Given the description of an element on the screen output the (x, y) to click on. 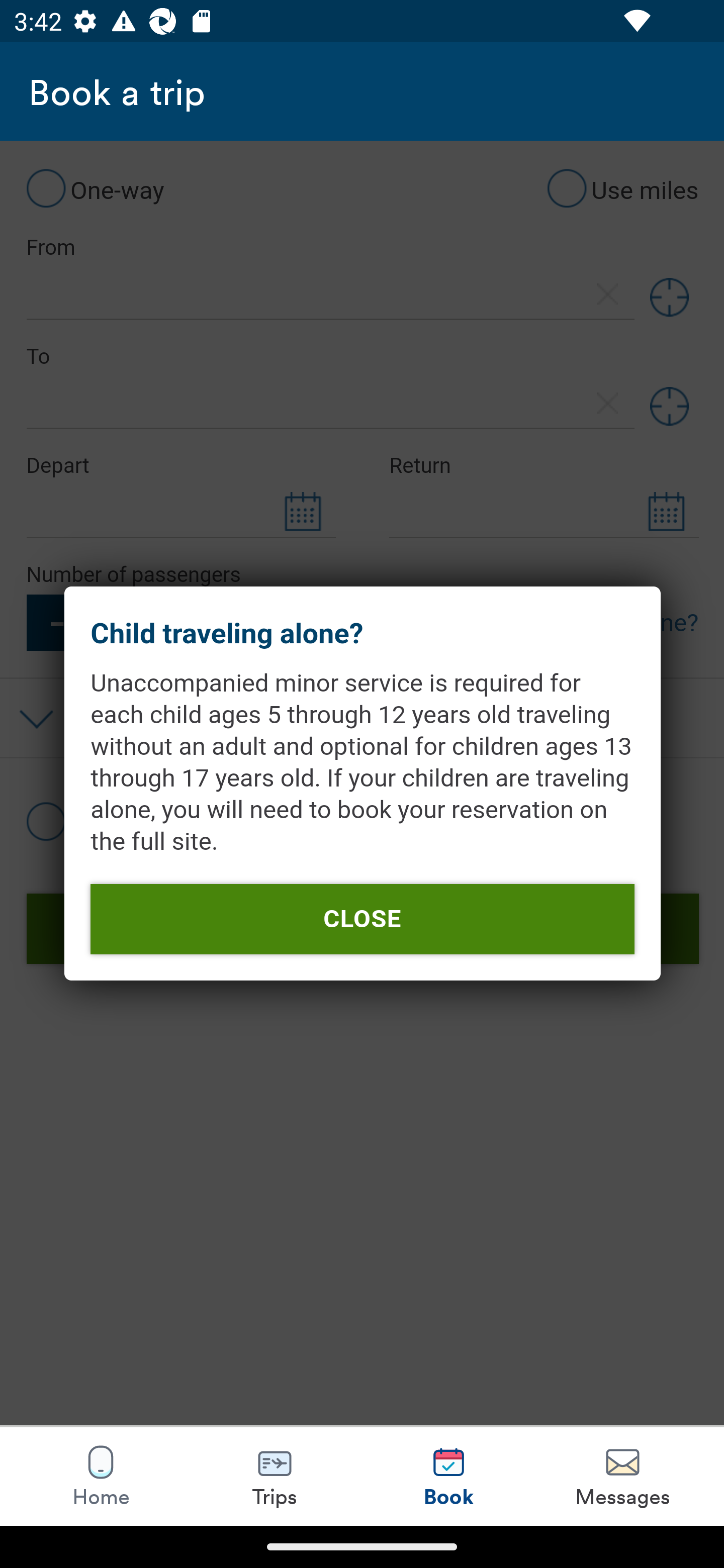
Close (361, 918)
Home (100, 1475)
Trips (275, 1475)
Book (448, 1475)
Messages (622, 1475)
